Given the description of an element on the screen output the (x, y) to click on. 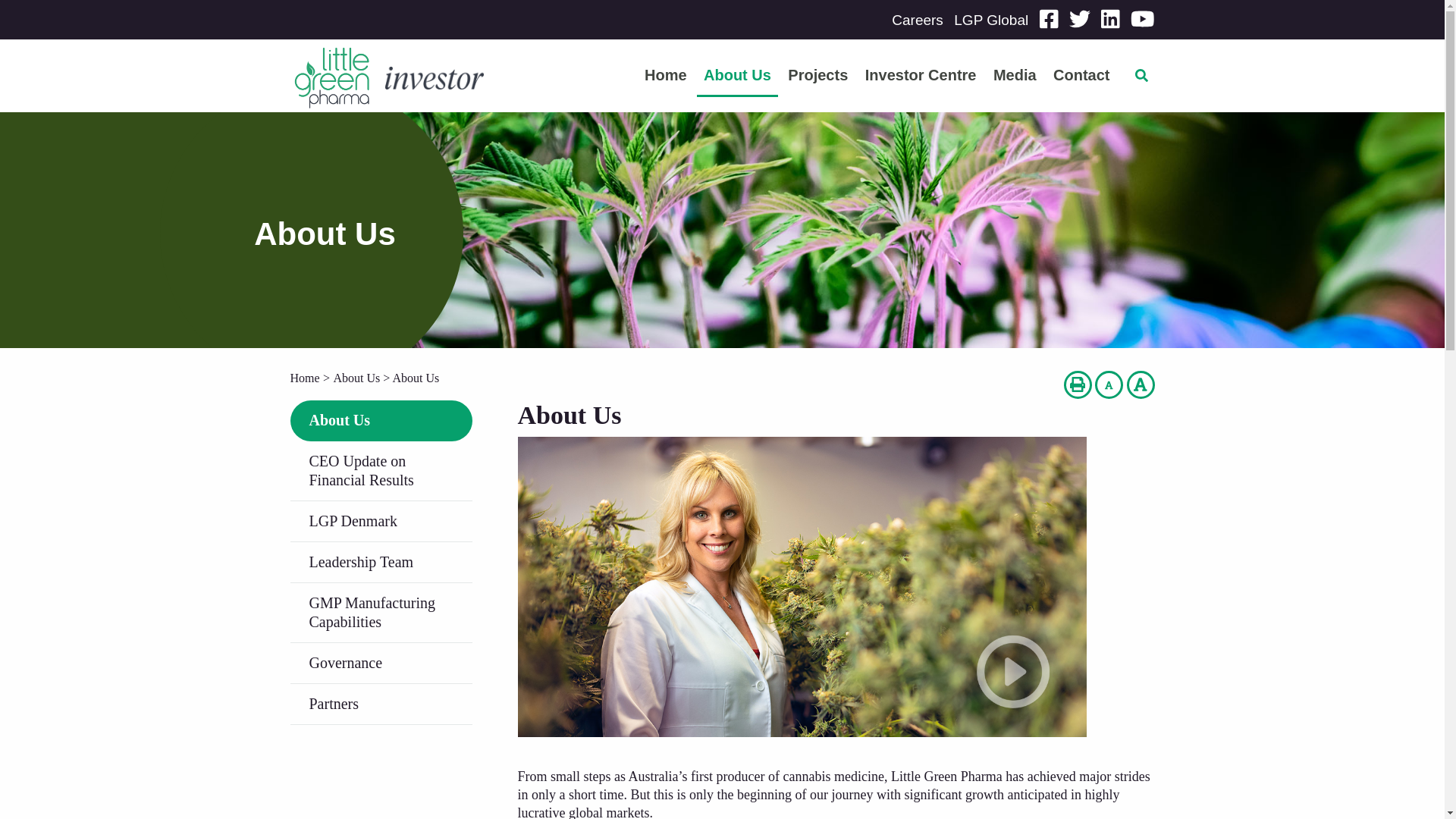
Print Page (1078, 384)
Careers (917, 20)
Font Smaller (1108, 384)
A brief history (801, 585)
LGP Global (990, 20)
Font Larger (1140, 384)
